Given the description of an element on the screen output the (x, y) to click on. 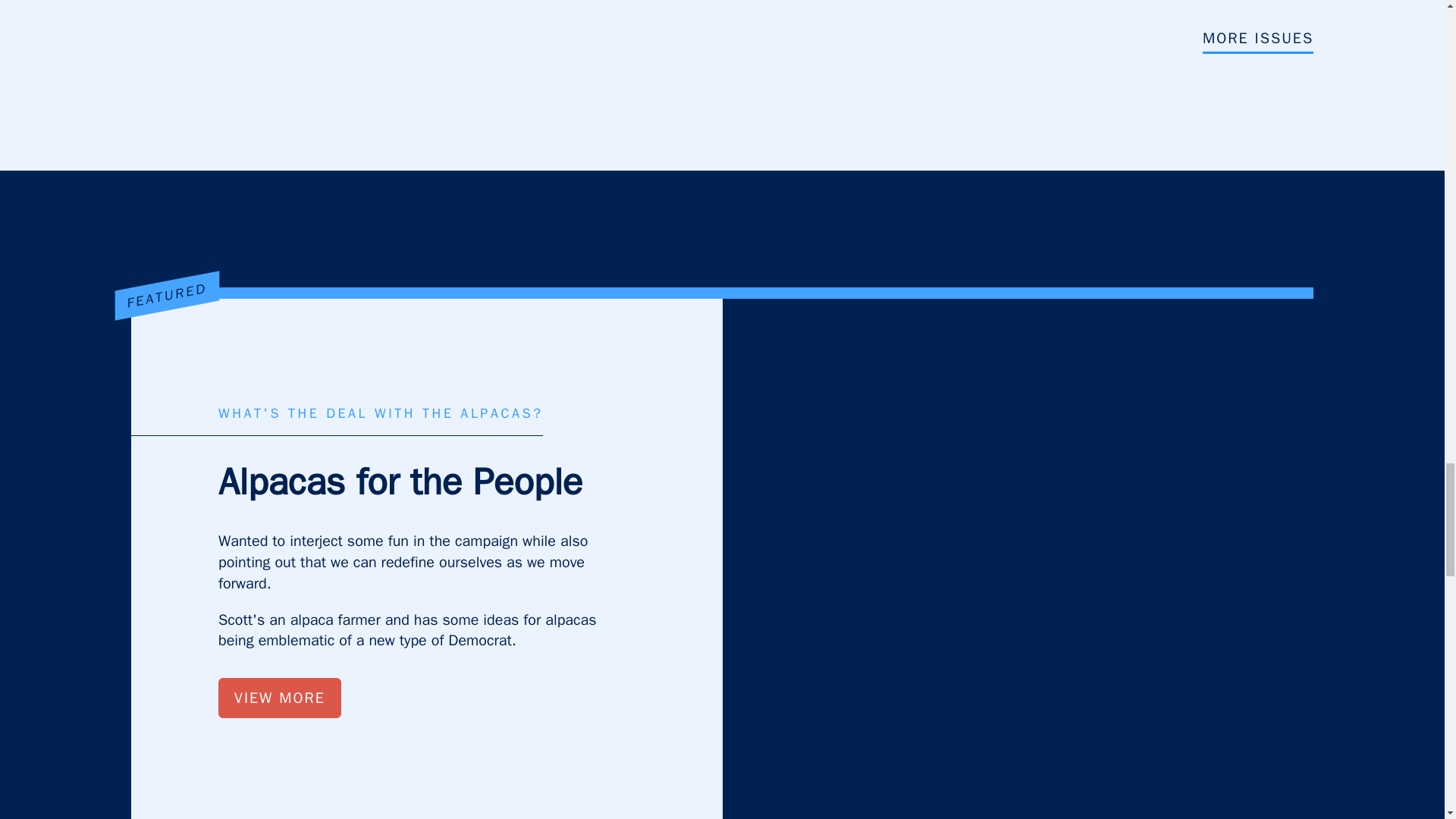
VIEW MORE (279, 698)
VIEW MORE (279, 696)
MORE ISSUES (1257, 39)
MORE ISSUES (1257, 40)
